Given the description of an element on the screen output the (x, y) to click on. 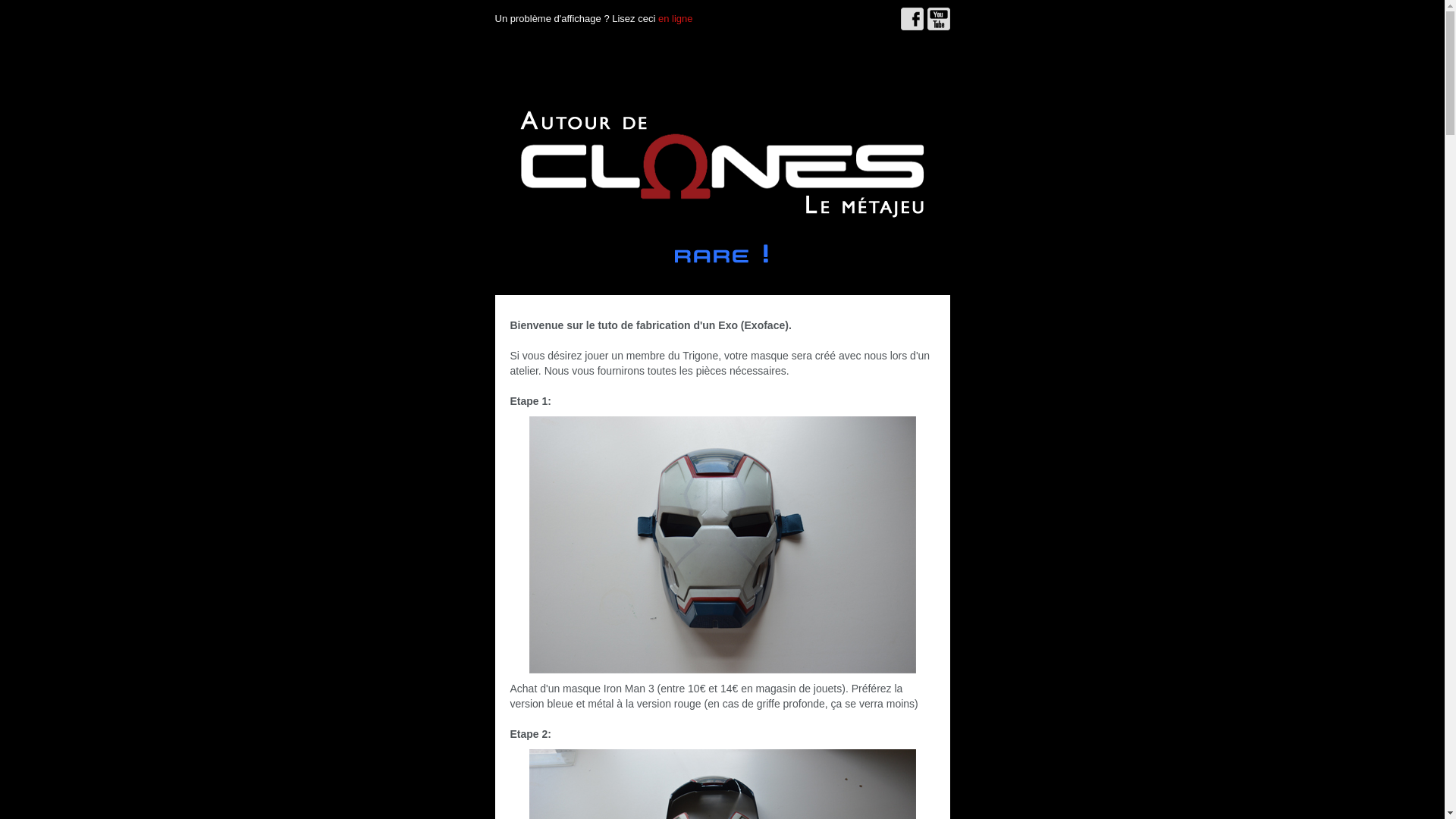
en ligne Element type: text (675, 18)
